Given the description of an element on the screen output the (x, y) to click on. 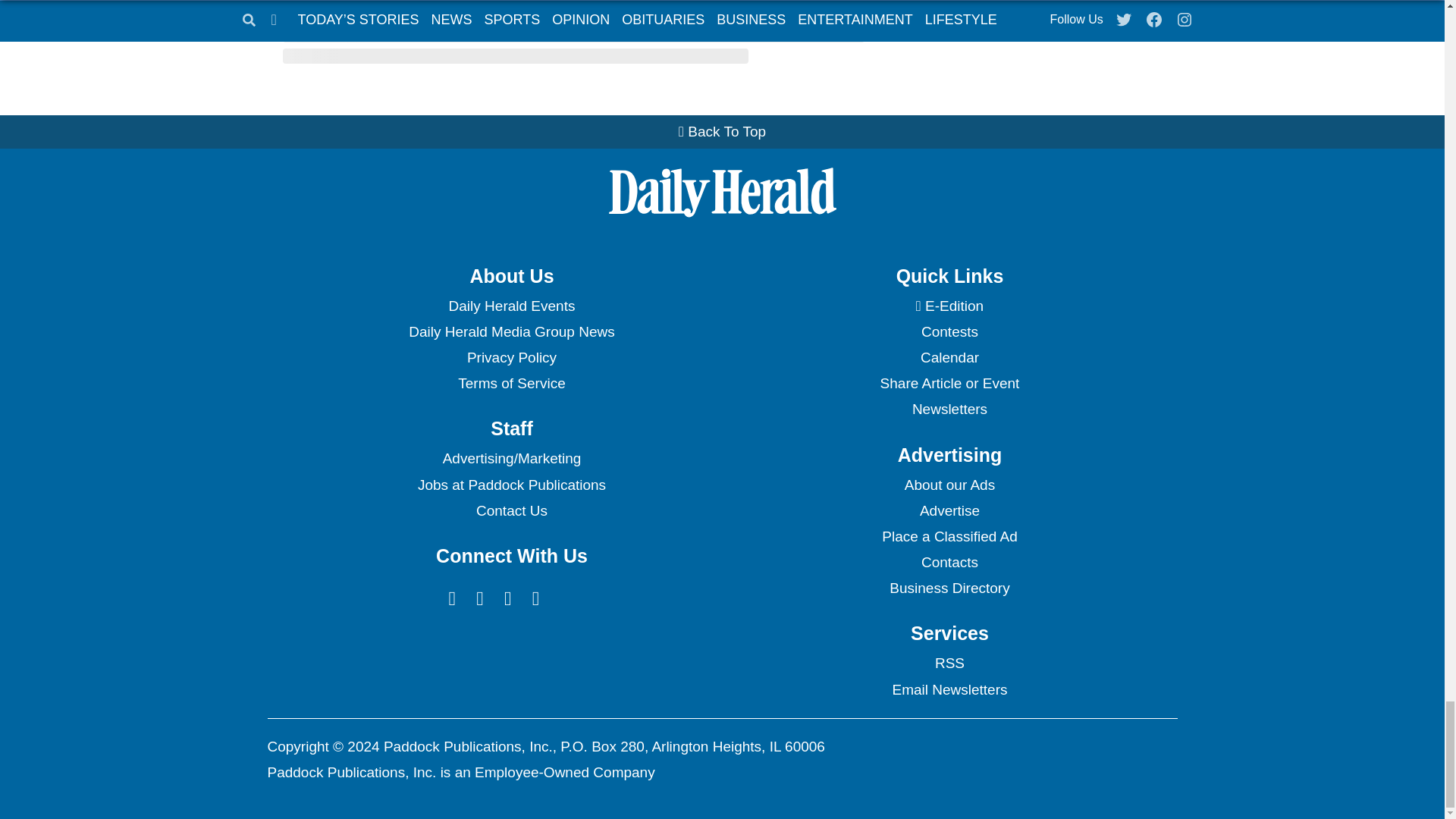
Daily Herald Events (511, 306)
